Given the description of an element on the screen output the (x, y) to click on. 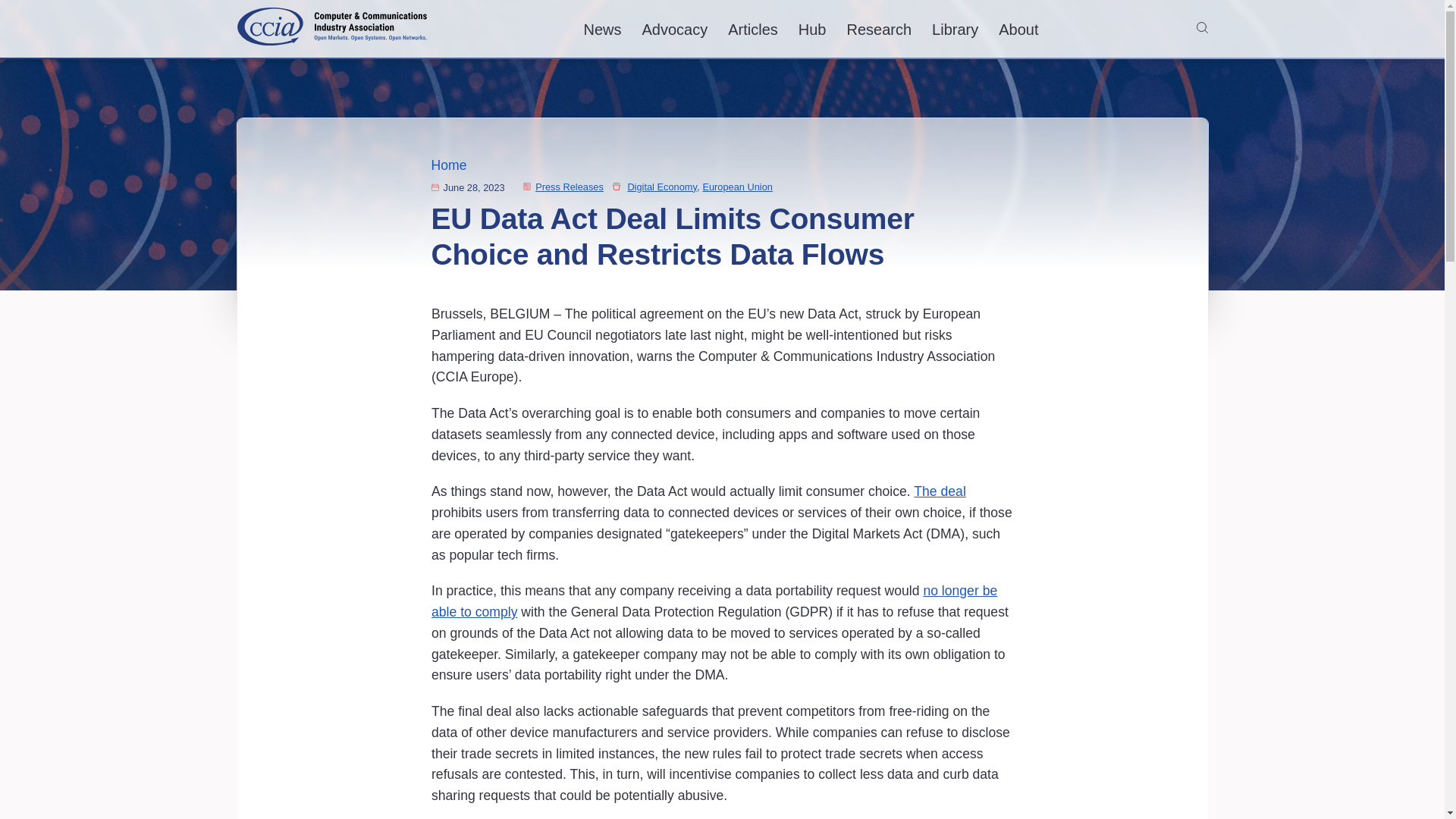
About (1018, 29)
Advocacy (675, 29)
Published (434, 186)
News (601, 29)
Hub (812, 29)
Articles (752, 29)
Library (954, 29)
Research (879, 29)
reading-tablet (526, 185)
